Given the description of an element on the screen output the (x, y) to click on. 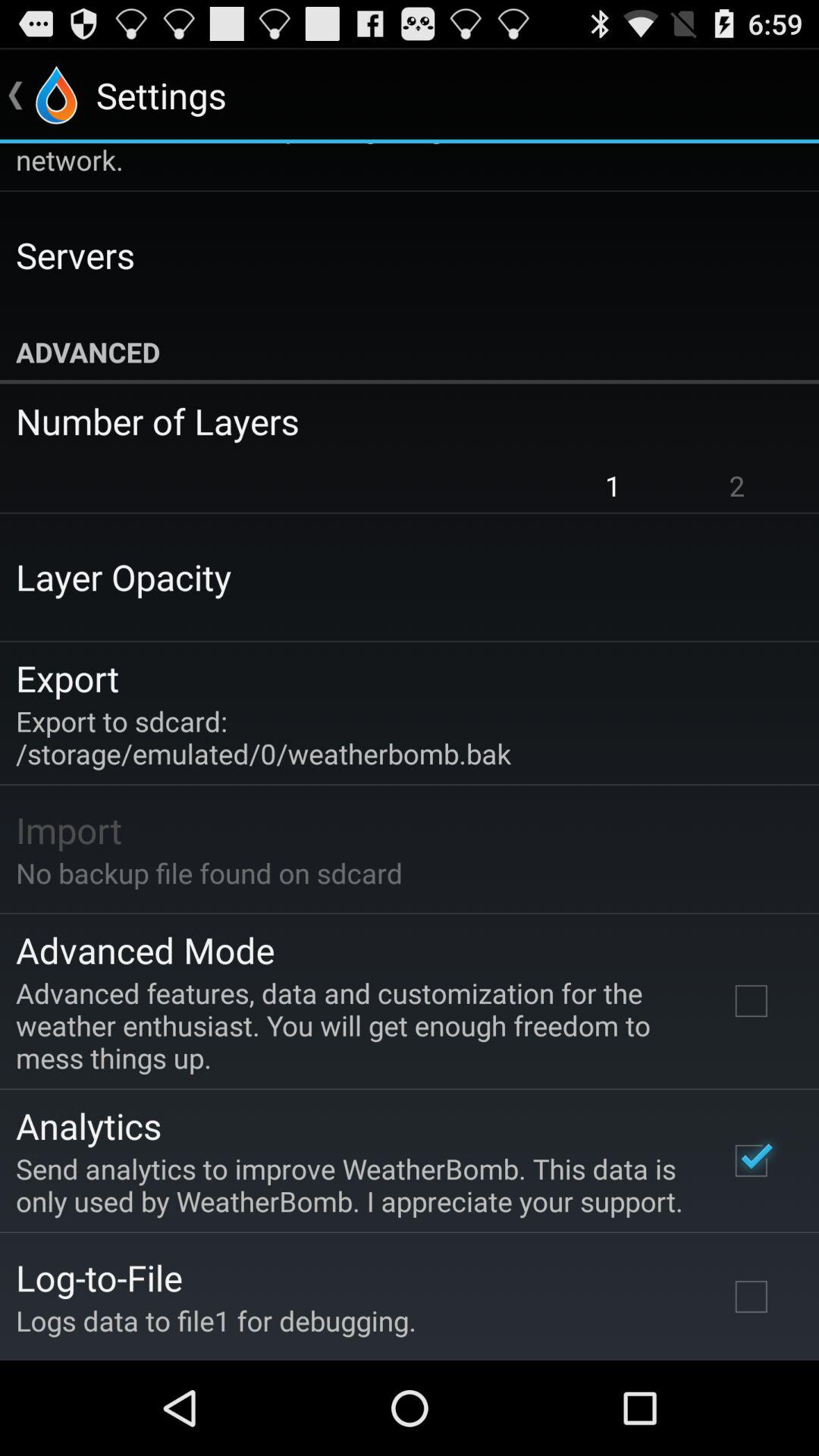
press the number of layers (399, 420)
